Given the description of an element on the screen output the (x, y) to click on. 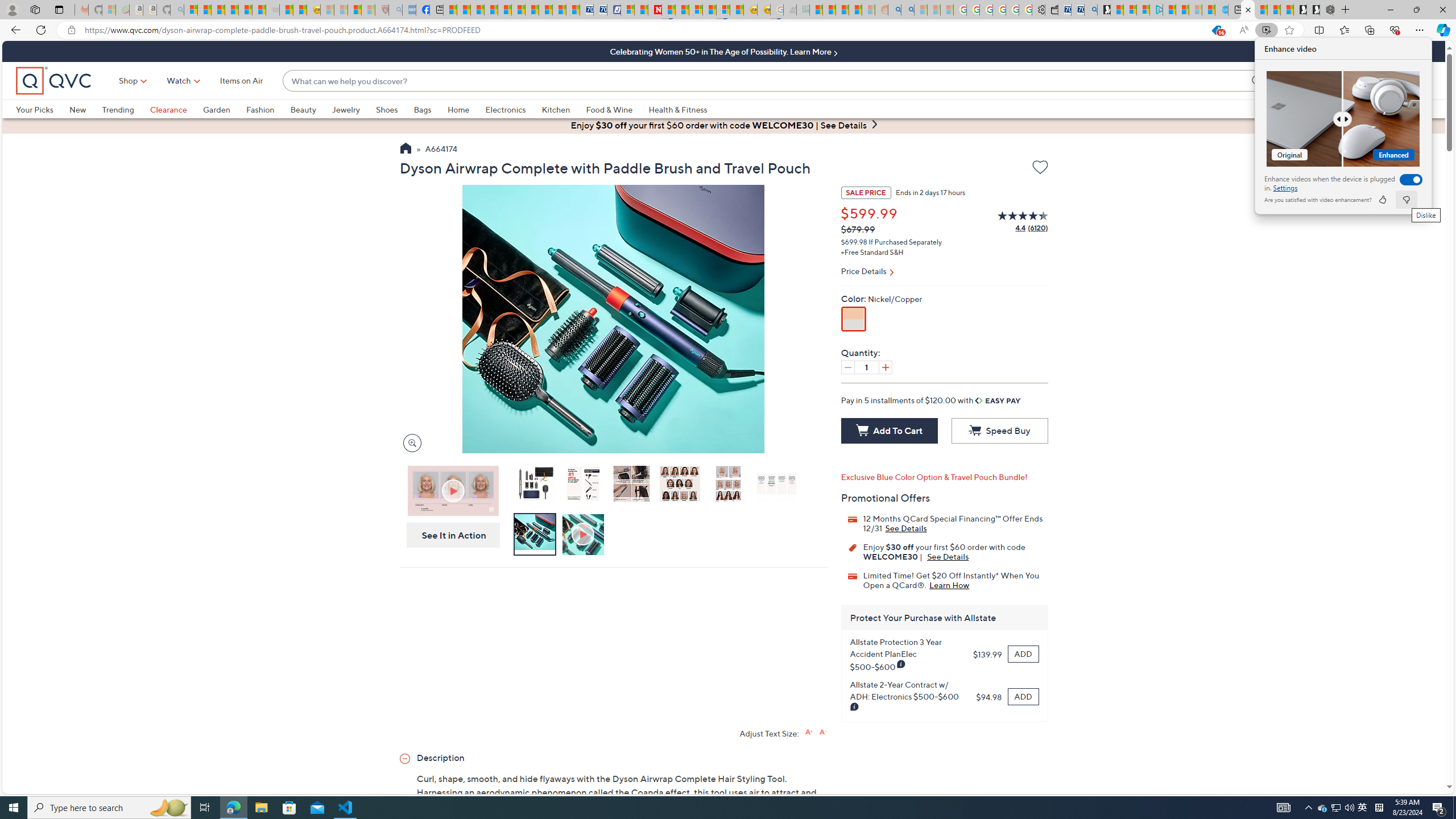
12 Popular Science Lies that Must be Corrected - Sleeping (368, 9)
Trending (117, 109)
Kitchen (555, 109)
A664174 (441, 149)
Wallet (1050, 9)
Utah sues federal government - Search (907, 9)
Comparision (1342, 118)
Health & Fitness (680, 109)
Learn How (1362, 807)
